Given the description of an element on the screen output the (x, y) to click on. 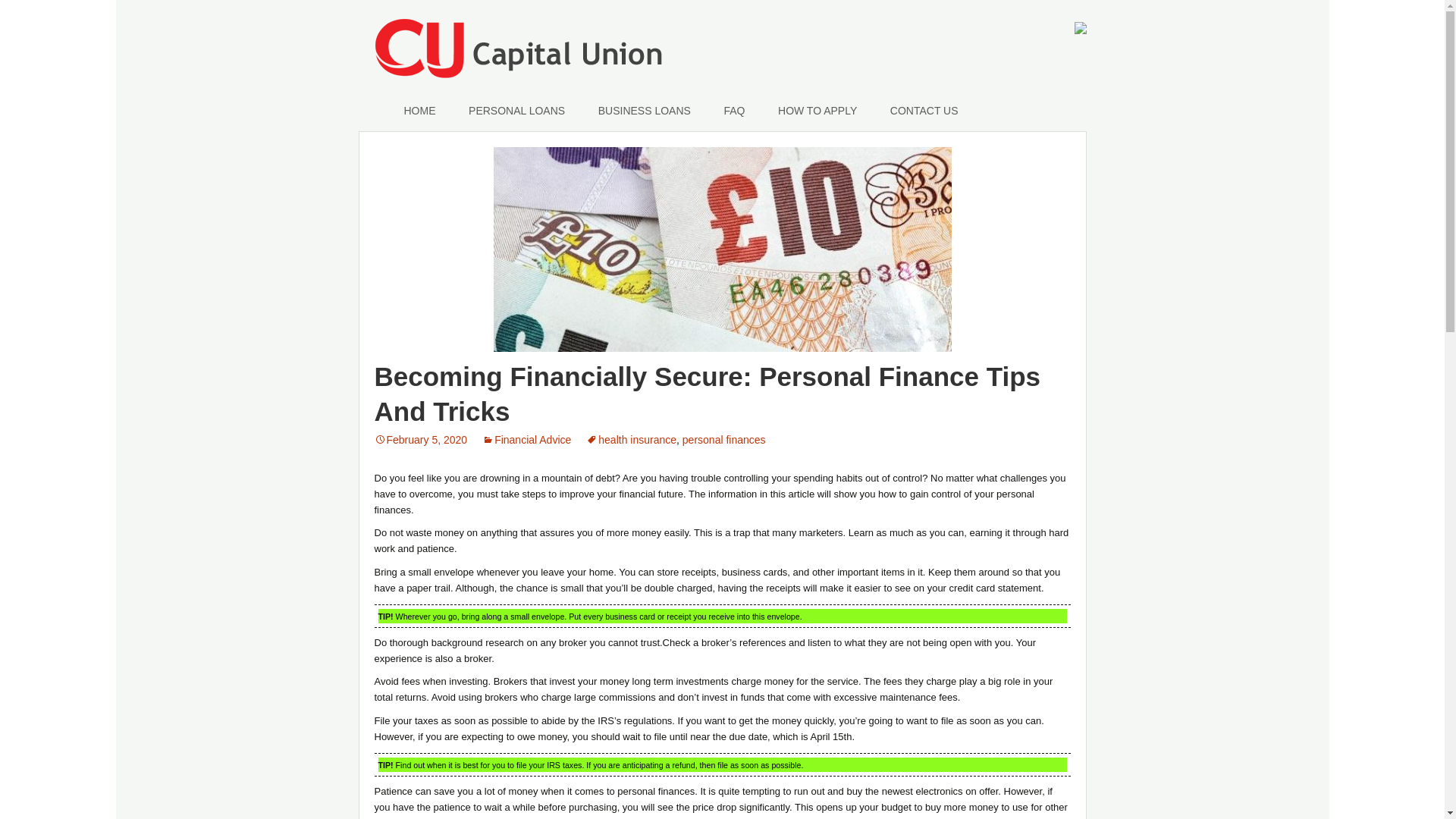
personal finances (723, 439)
HOW TO APPLY (817, 110)
CONTACT US (924, 110)
FAQ (733, 110)
PERSONAL LOANS (515, 110)
BUSINESS LOANS (644, 110)
HOME (418, 110)
February 5, 2020 (420, 439)
Financial Advice (525, 439)
